Given the description of an element on the screen output the (x, y) to click on. 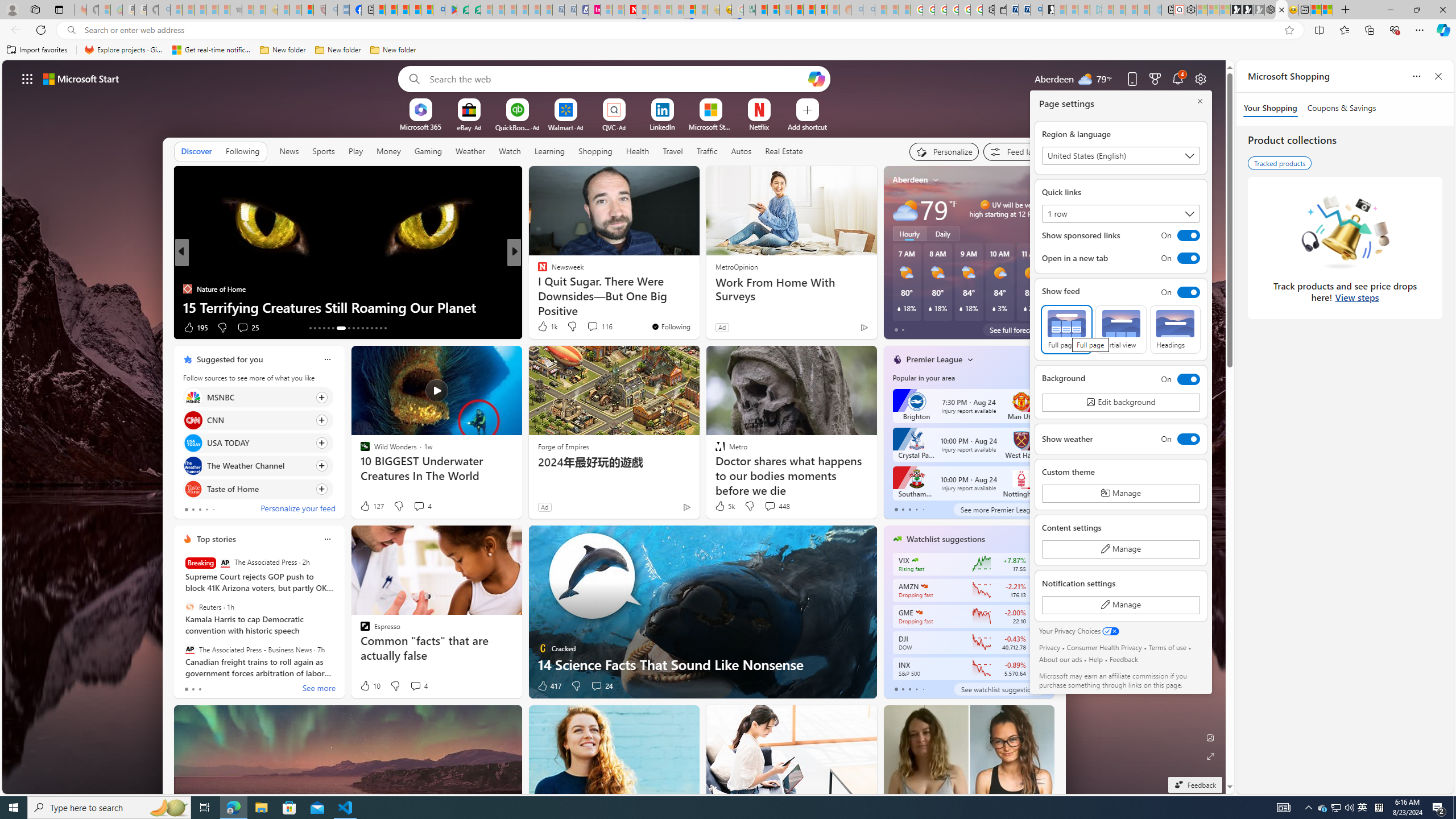
Shopping (594, 151)
Headings (1174, 328)
Kinda Frugal - MSN (808, 9)
411 Like (545, 327)
Why Some People Wait To Die Until They're Alone (697, 307)
Import favorites (36, 49)
CNBC (537, 270)
View comments 84 Comment (592, 327)
